Given the description of an element on the screen output the (x, y) to click on. 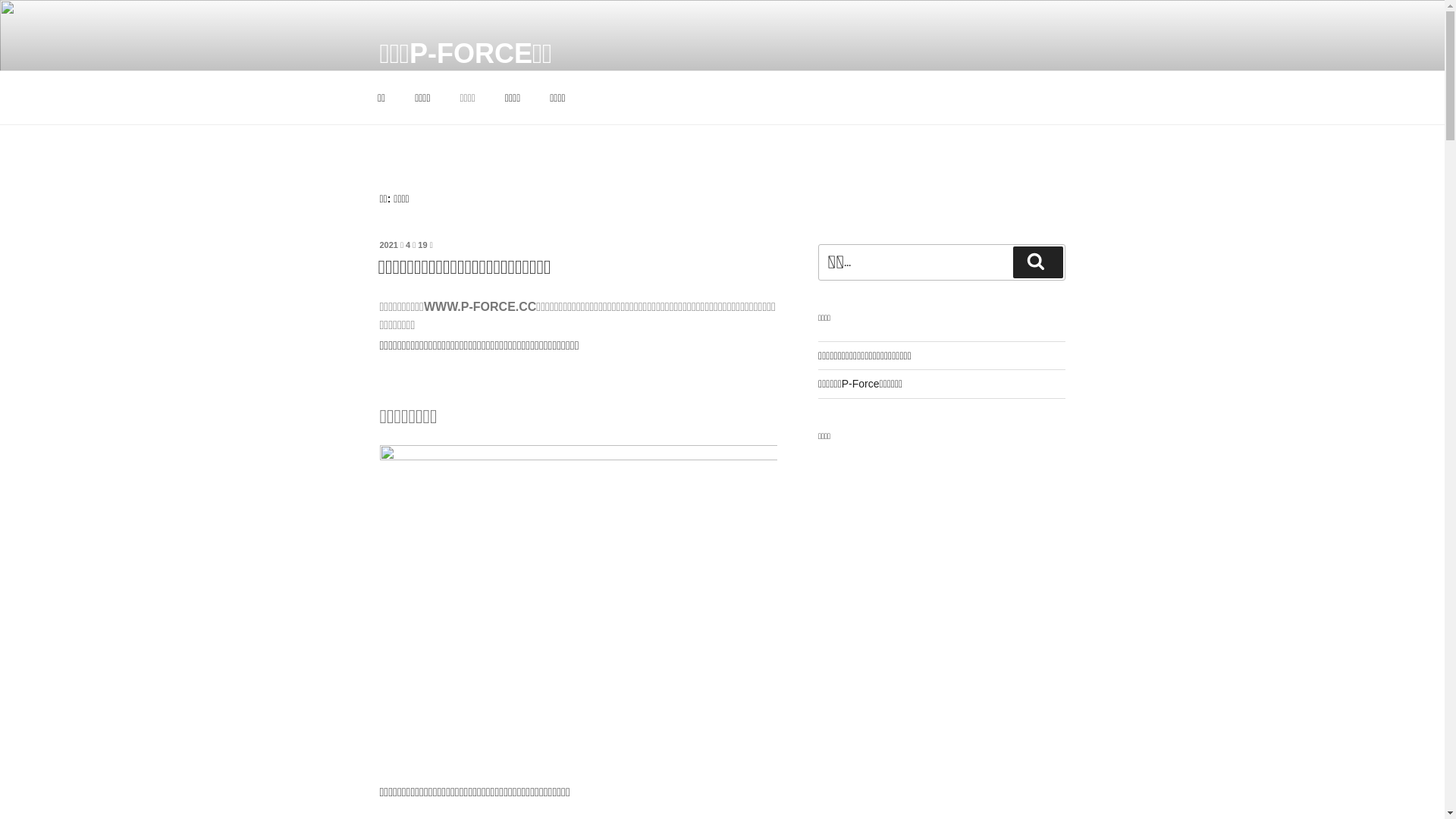
WWW.P-FORCE.CC Element type: text (479, 306)
